Given the description of an element on the screen output the (x, y) to click on. 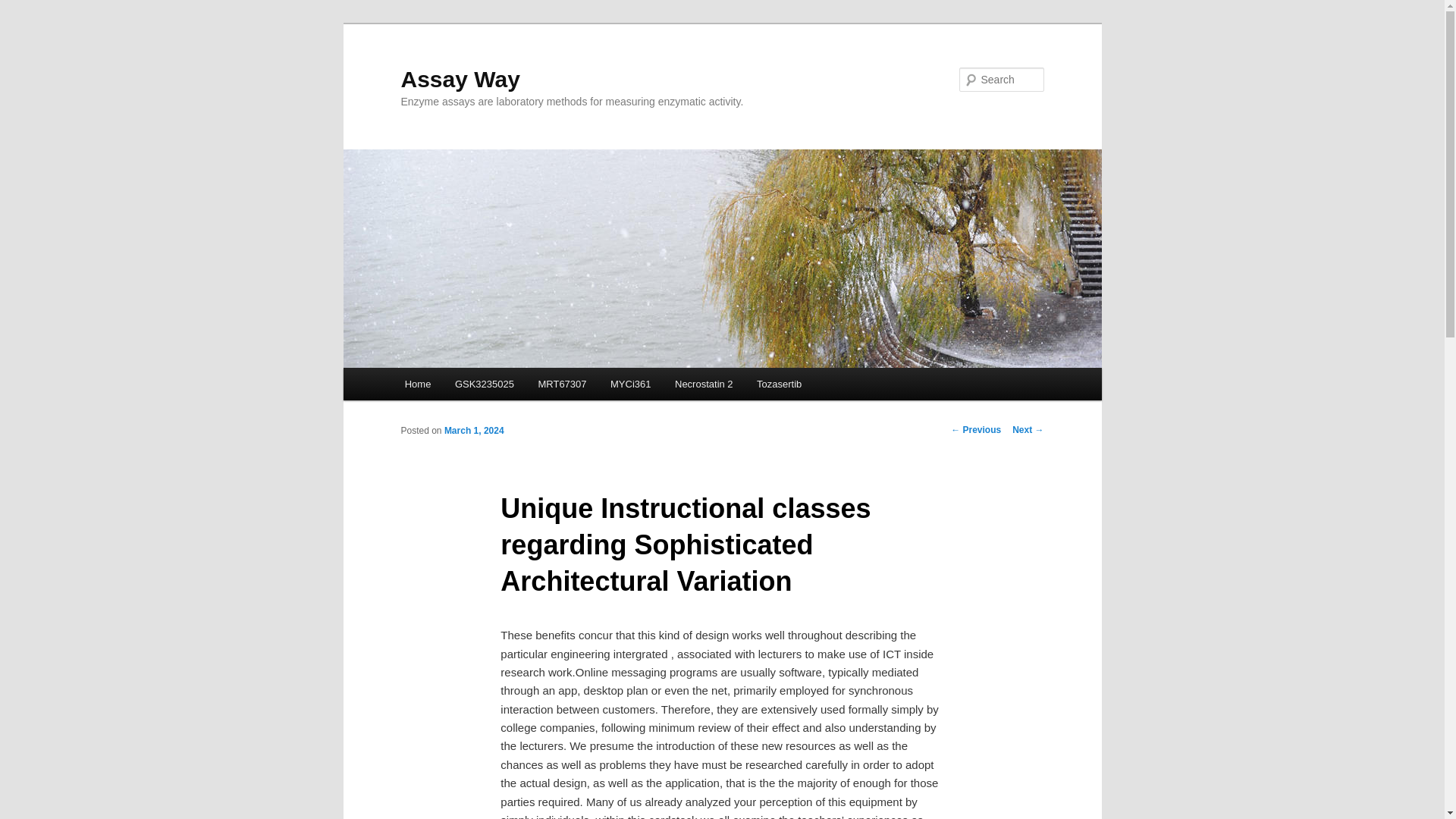
Search (24, 8)
Skip to secondary content (479, 386)
Necrostatin 2 (703, 383)
Home (417, 383)
Tozasertib (778, 383)
Home (417, 383)
Skip to primary content (472, 386)
GSK3235025 (483, 383)
MYCi361 (630, 383)
3:28 am (473, 430)
March 1, 2024 (473, 430)
MRT67307 (561, 383)
Skip to primary content (472, 386)
Skip to secondary content (479, 386)
Assay Way (459, 78)
